Given the description of an element on the screen output the (x, y) to click on. 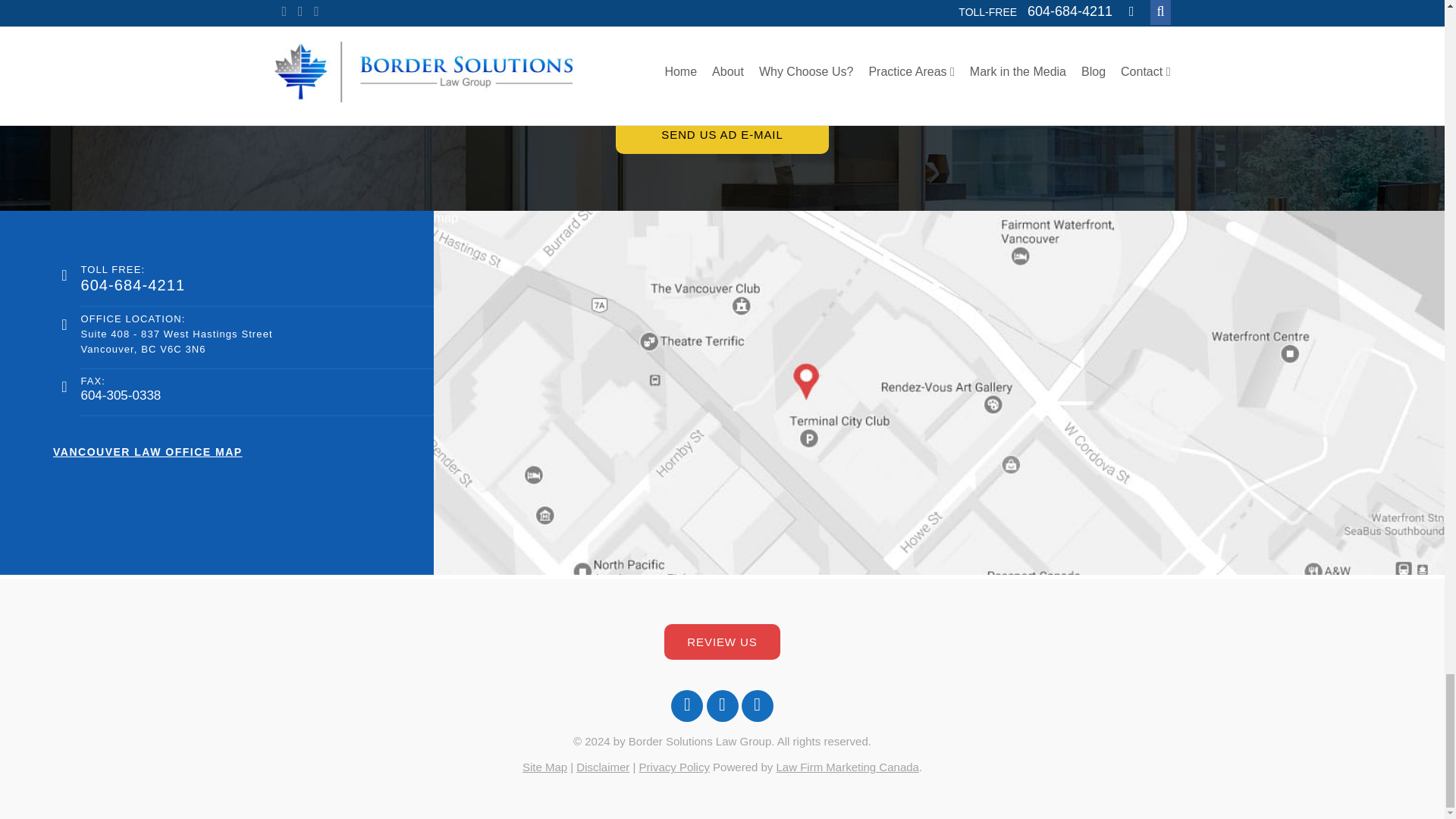
Follow us on Twitter (722, 705)
Follow us on LinkedIn (757, 705)
Follow us on Facebook (687, 705)
